Given the description of an element on the screen output the (x, y) to click on. 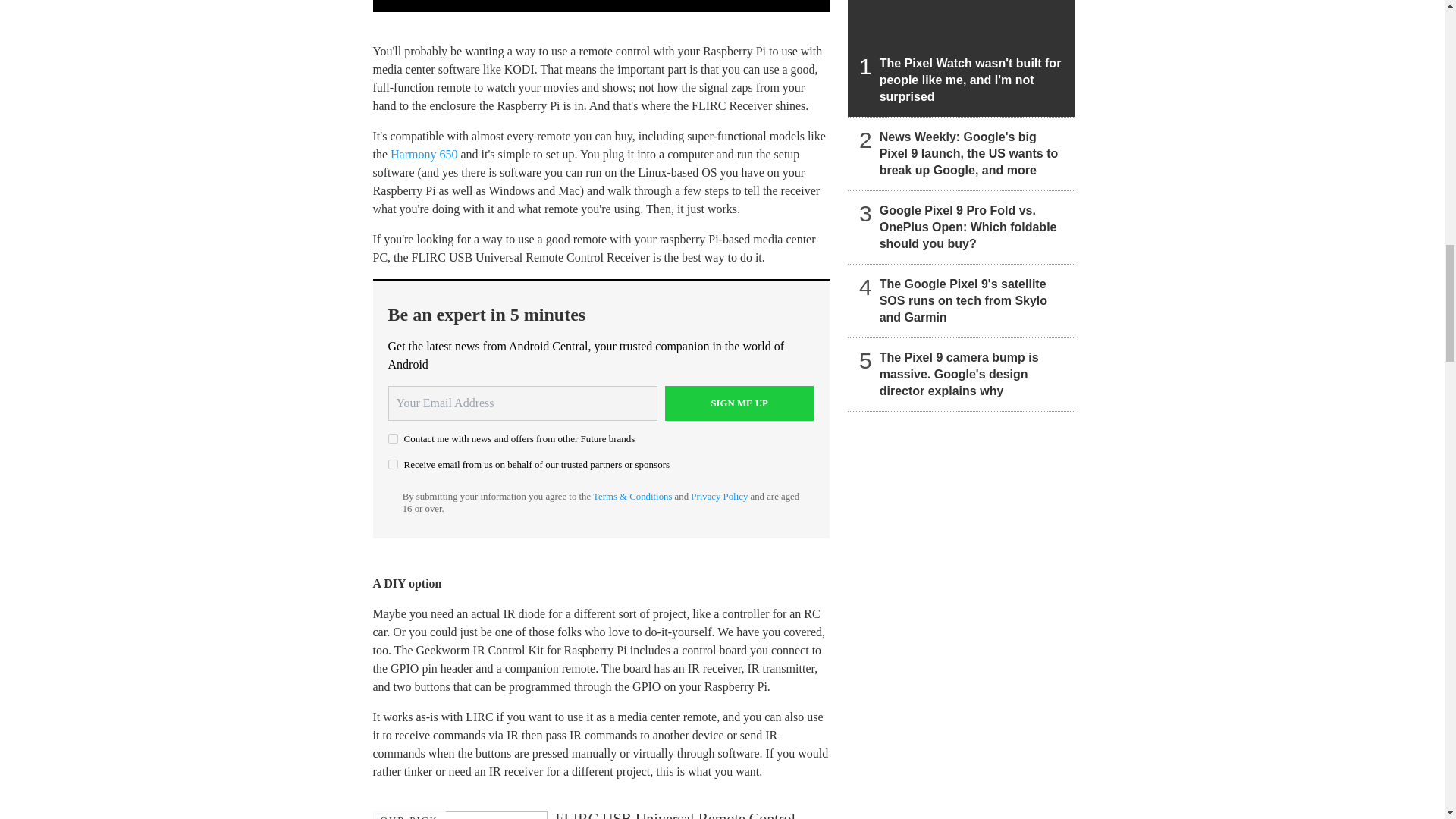
on (392, 464)
Sign me up (739, 402)
on (392, 438)
